Given the description of an element on the screen output the (x, y) to click on. 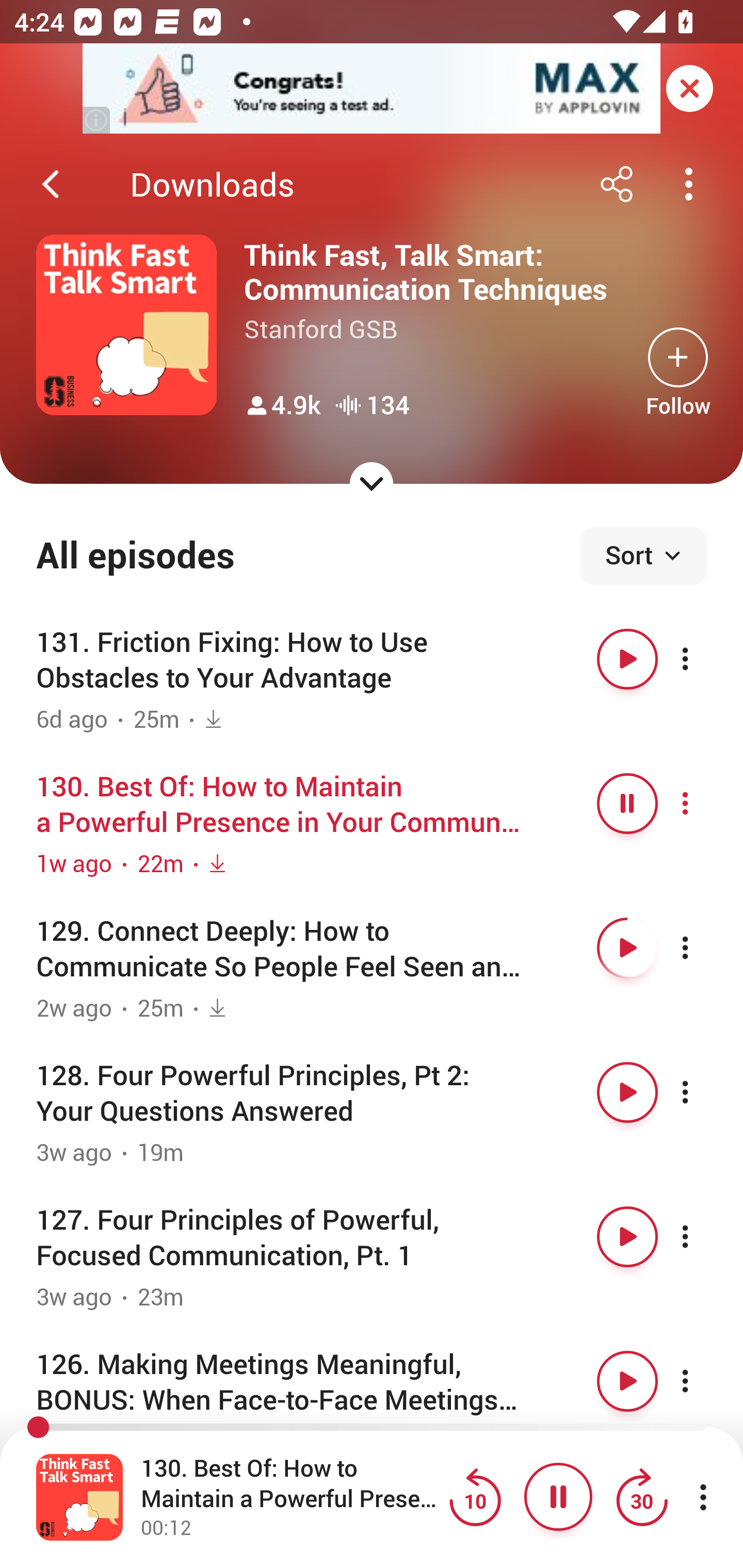
app-monetization (371, 88)
(i) (96, 119)
Back (50, 184)
Subscribe button (677, 357)
Sort episodes Sort (643, 555)
Play button (627, 659)
More options (703, 659)
Pause button (627, 803)
More options (703, 803)
Play button (627, 947)
More options (703, 947)
Play button (627, 1092)
More options (703, 1092)
Play button (627, 1236)
More options (703, 1236)
Play button (627, 1381)
More options (703, 1381)
Open fullscreen player (79, 1497)
More player controls (703, 1497)
Pause button (558, 1496)
Jump back (475, 1497)
Jump forward (641, 1497)
